Given the description of an element on the screen output the (x, y) to click on. 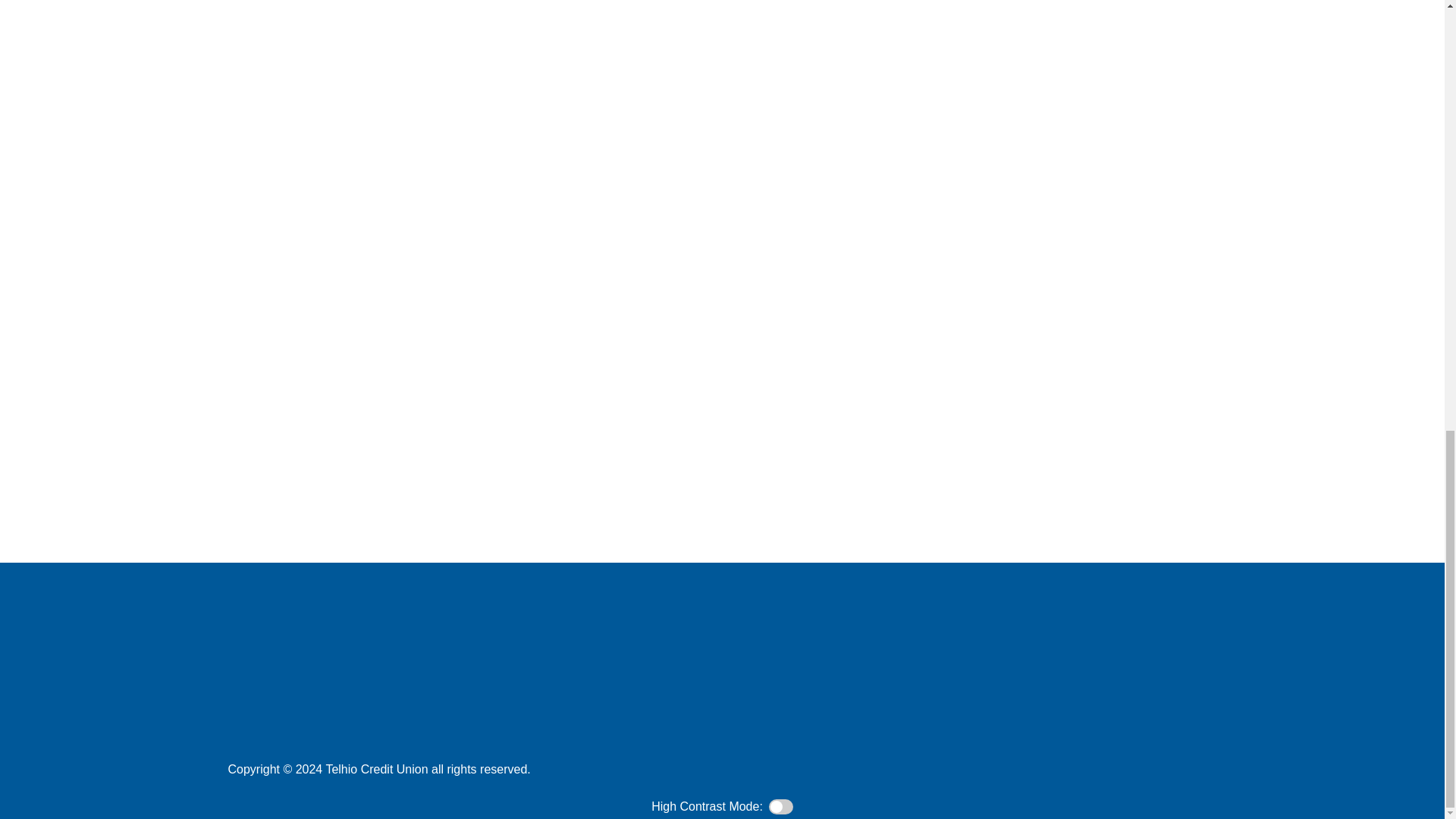
LinkedIn (759, 763)
YouTube (722, 763)
Facebook (646, 763)
Instagram (797, 763)
